Given the description of an element on the screen output the (x, y) to click on. 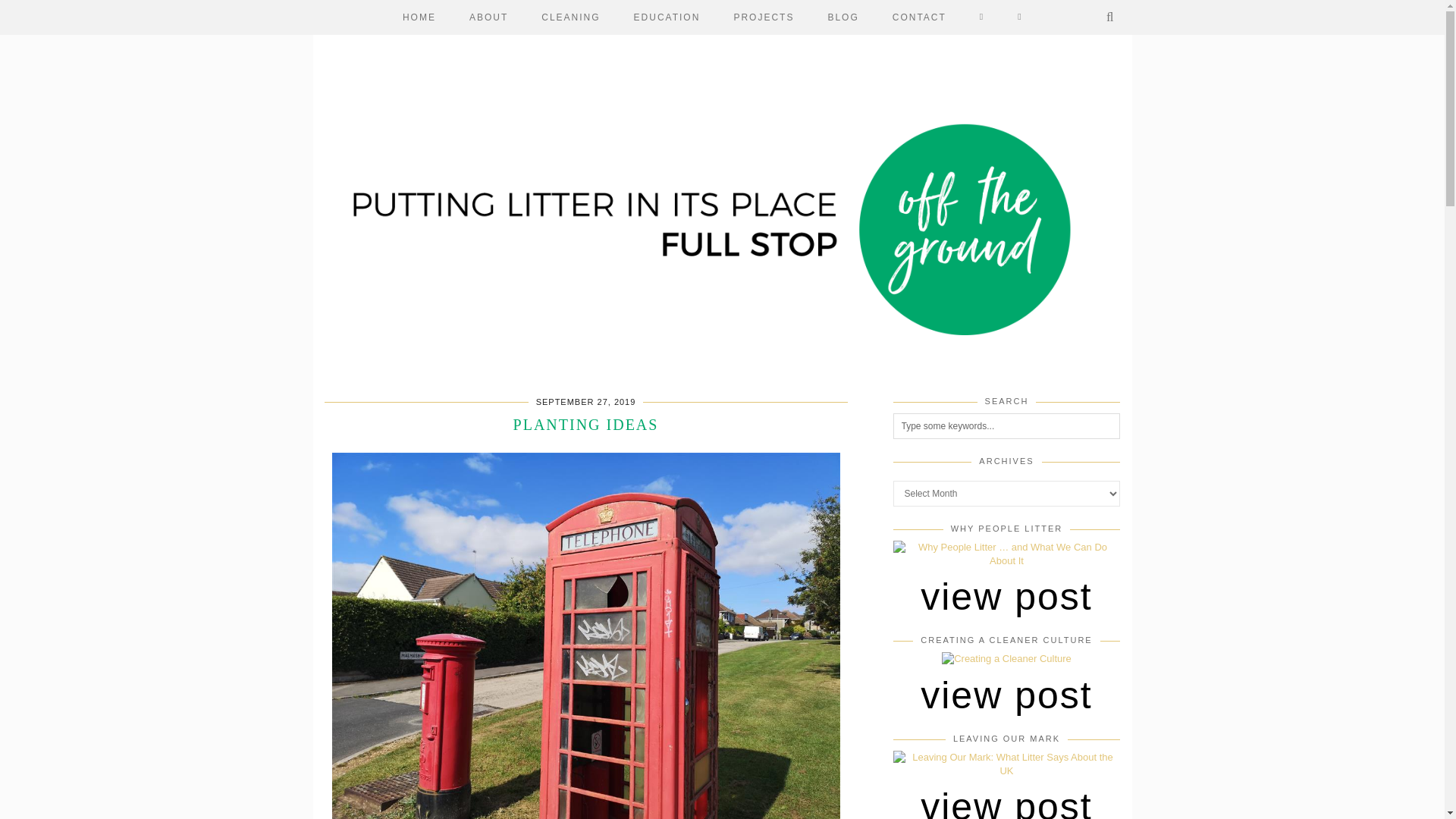
ABOUT (488, 17)
EDUCATION (667, 17)
FACEBOOK (981, 17)
CLEANING (569, 17)
TWITTER (1020, 17)
BLOG (842, 17)
CONTACT (919, 17)
HOME (418, 17)
PROJECTS (763, 17)
